Given the description of an element on the screen output the (x, y) to click on. 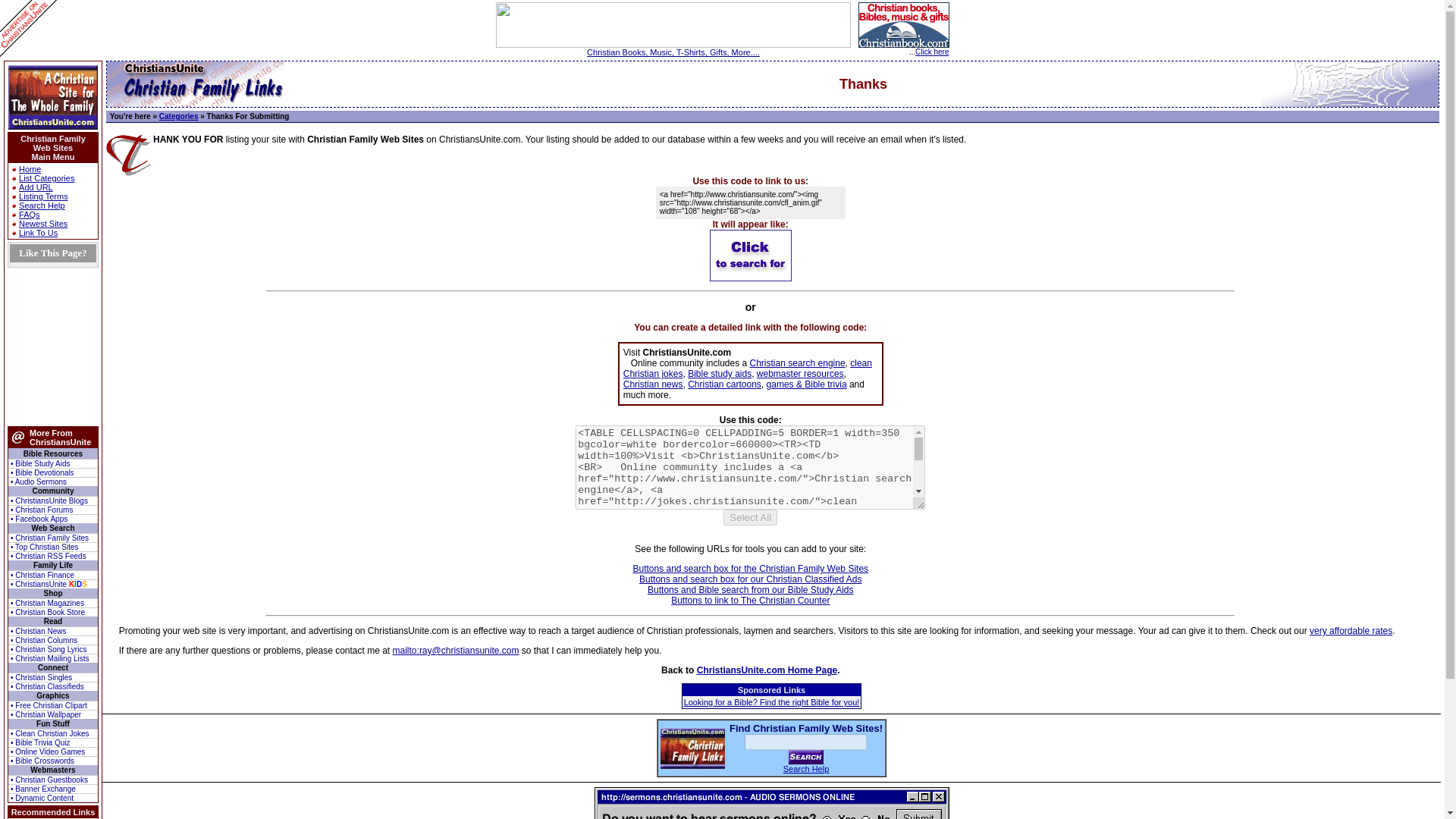
Select All (750, 517)
Listing Terms (43, 195)
Click here (932, 51)
Search Help (41, 204)
Home (29, 168)
FAQs (29, 214)
Newest Sites (42, 223)
Add URL (35, 186)
List Categories (46, 177)
Submit (806, 757)
